Given the description of an element on the screen output the (x, y) to click on. 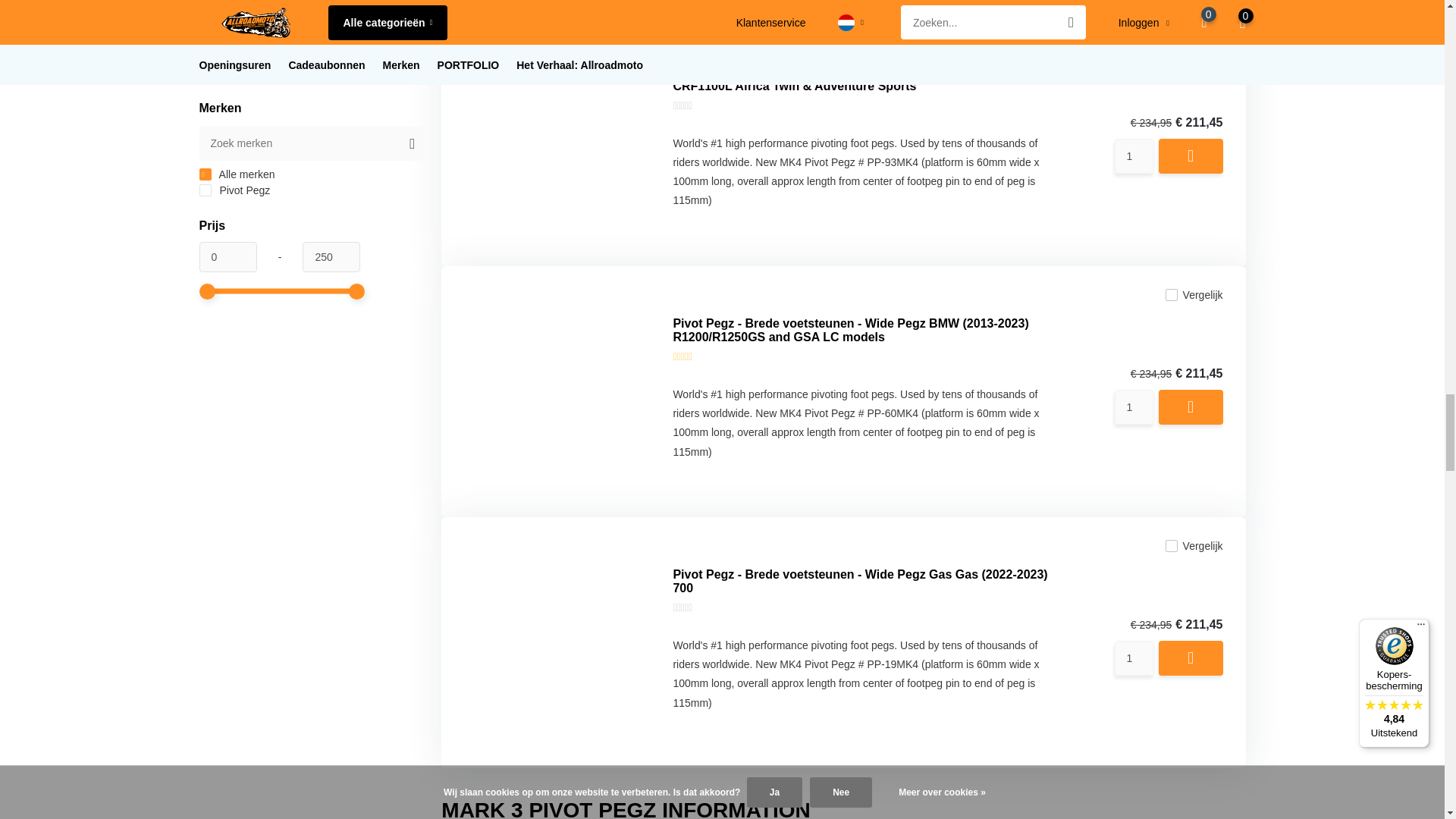
1 (1134, 407)
1 (1134, 155)
1 (1134, 657)
